Given the description of an element on the screen output the (x, y) to click on. 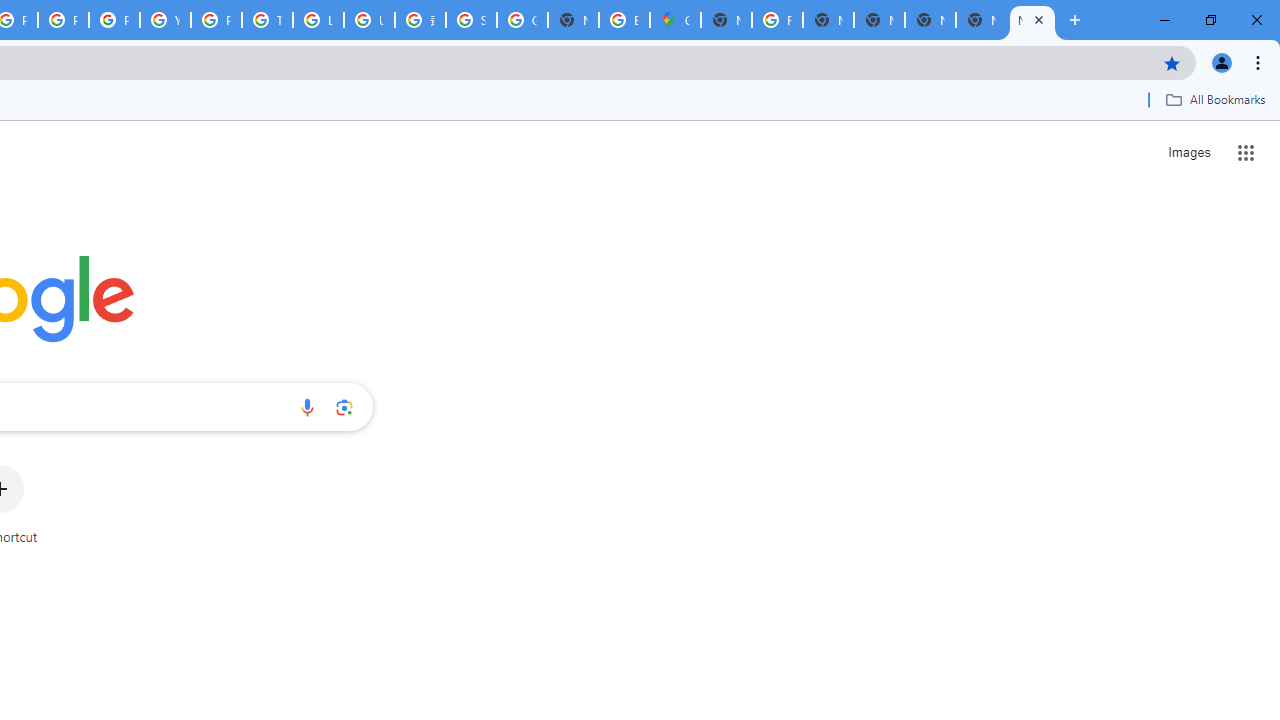
Search by voice (307, 407)
New Tab (1032, 20)
New Tab (981, 20)
Privacy Help Center - Policies Help (63, 20)
Search for Images  (1188, 152)
